Given the description of an element on the screen output the (x, y) to click on. 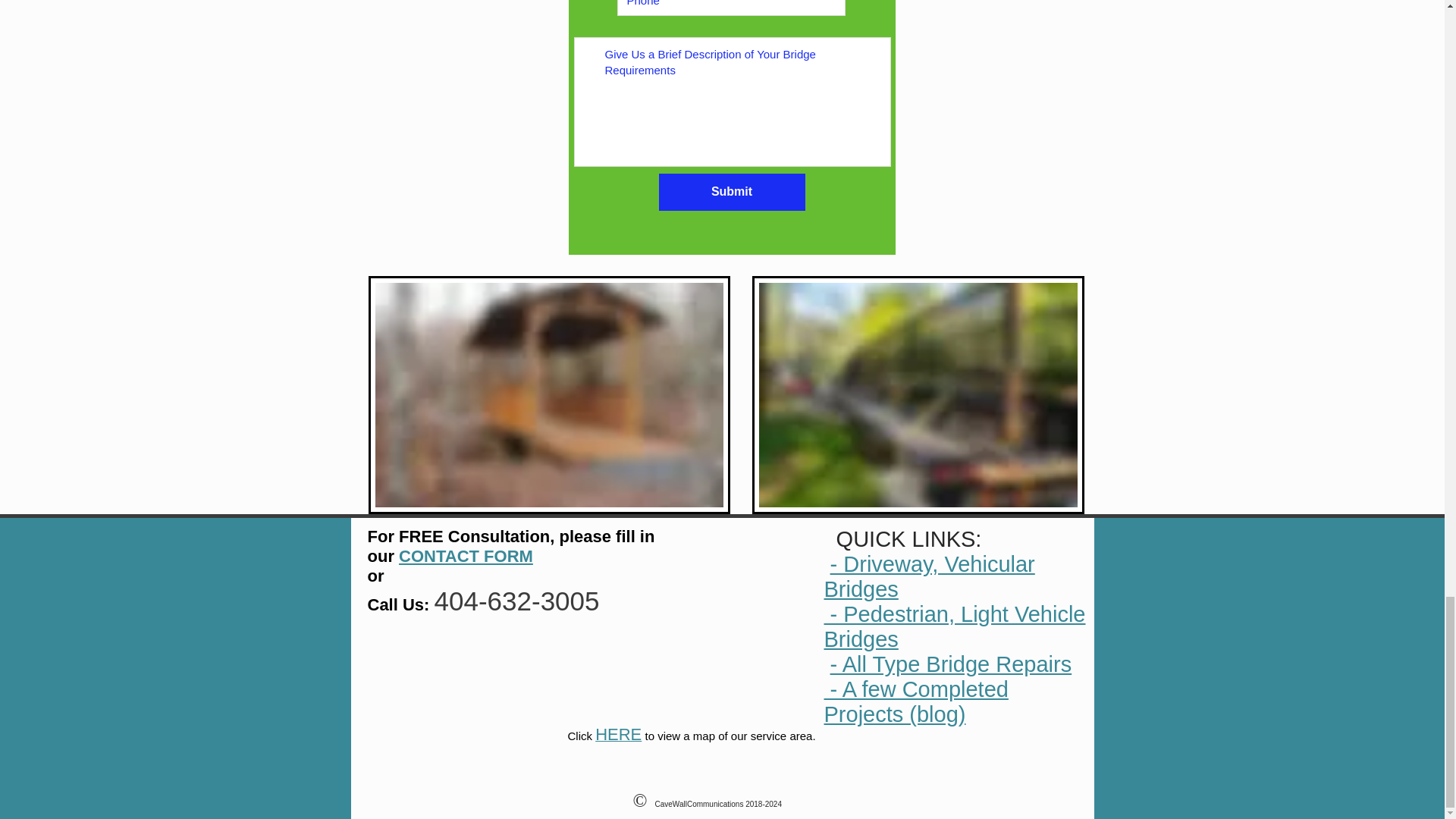
CONTACT FORM (465, 556)
 - Pedestrian, Light Vehicle Bridges (954, 626)
HERE (618, 735)
- Driveway, Vehicular Bridges (928, 576)
Submit (731, 191)
- All Type Bridge Repairs (950, 663)
